Given the description of an element on the screen output the (x, y) to click on. 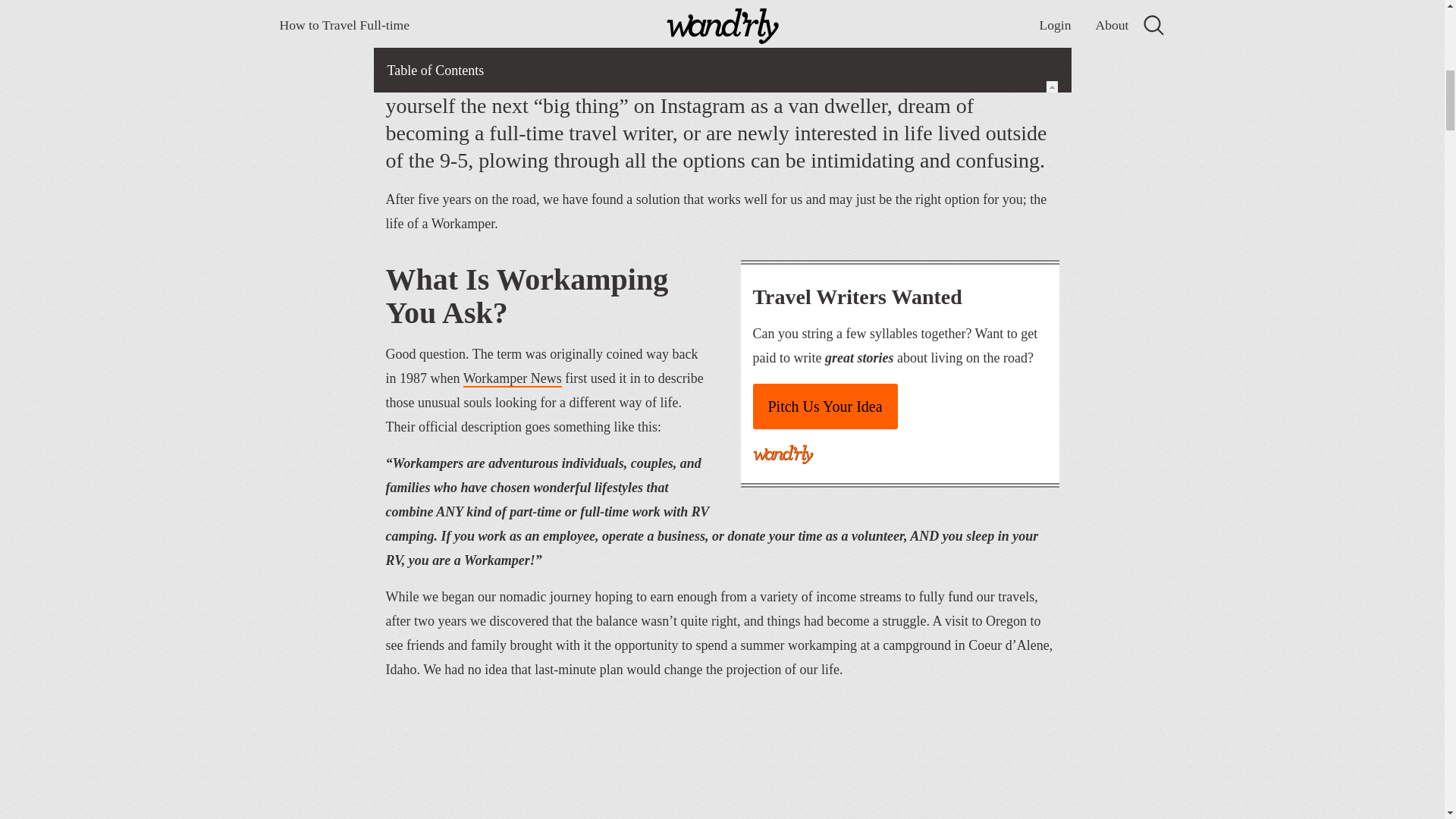
Pitch Us Your Idea (824, 406)
Table of Contents (722, 18)
Workamper News (512, 379)
